Given the description of an element on the screen output the (x, y) to click on. 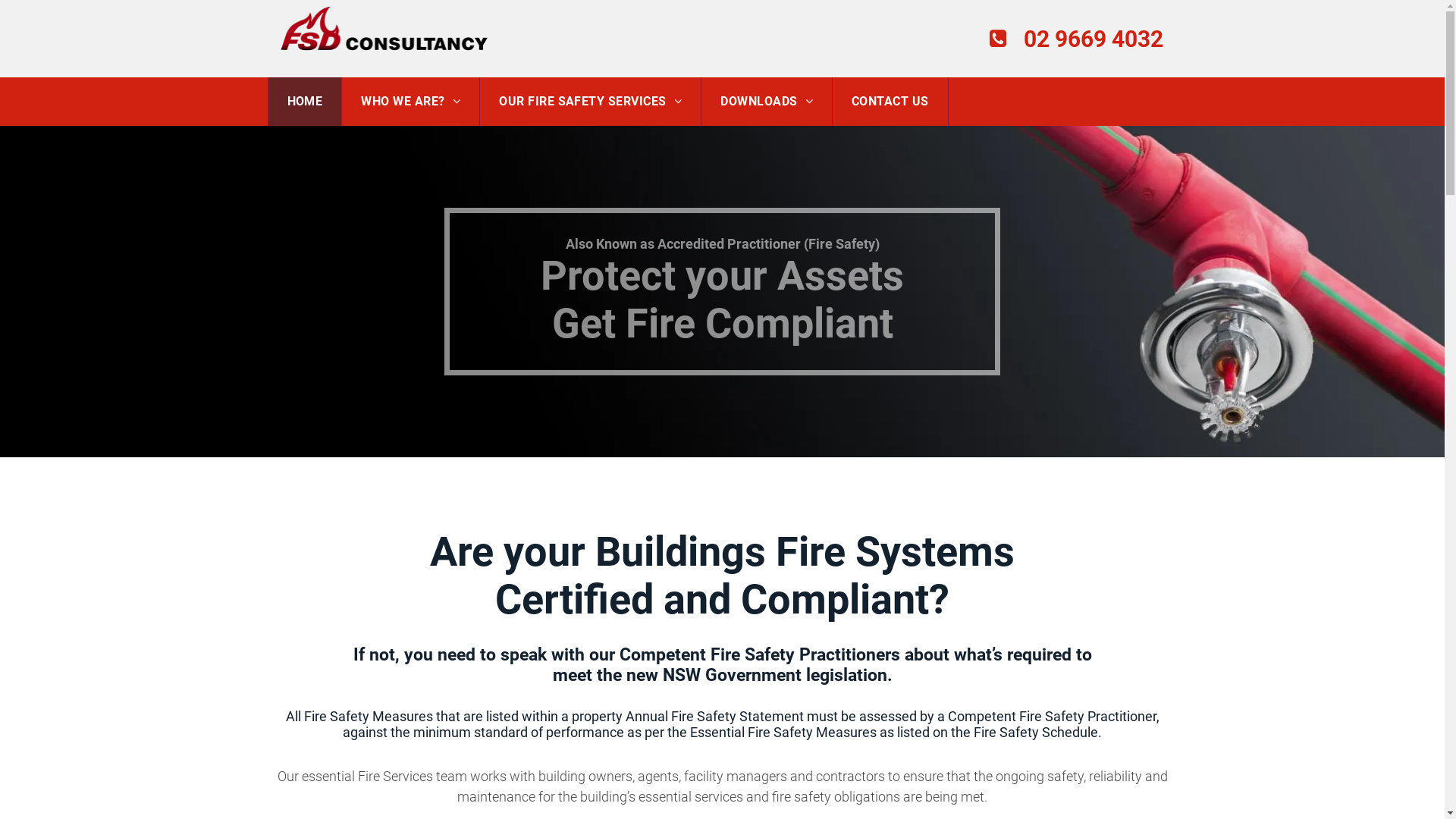
WHO WE ARE? Element type: text (411, 101)
CONTACT US Element type: text (890, 101)
HOME Element type: text (305, 101)
OUR FIRE SAFETY SERVICES Element type: text (590, 101)
DOWNLOADS Element type: text (766, 101)
02 9669 4032 Element type: text (1077, 38)
